Given the description of an element on the screen output the (x, y) to click on. 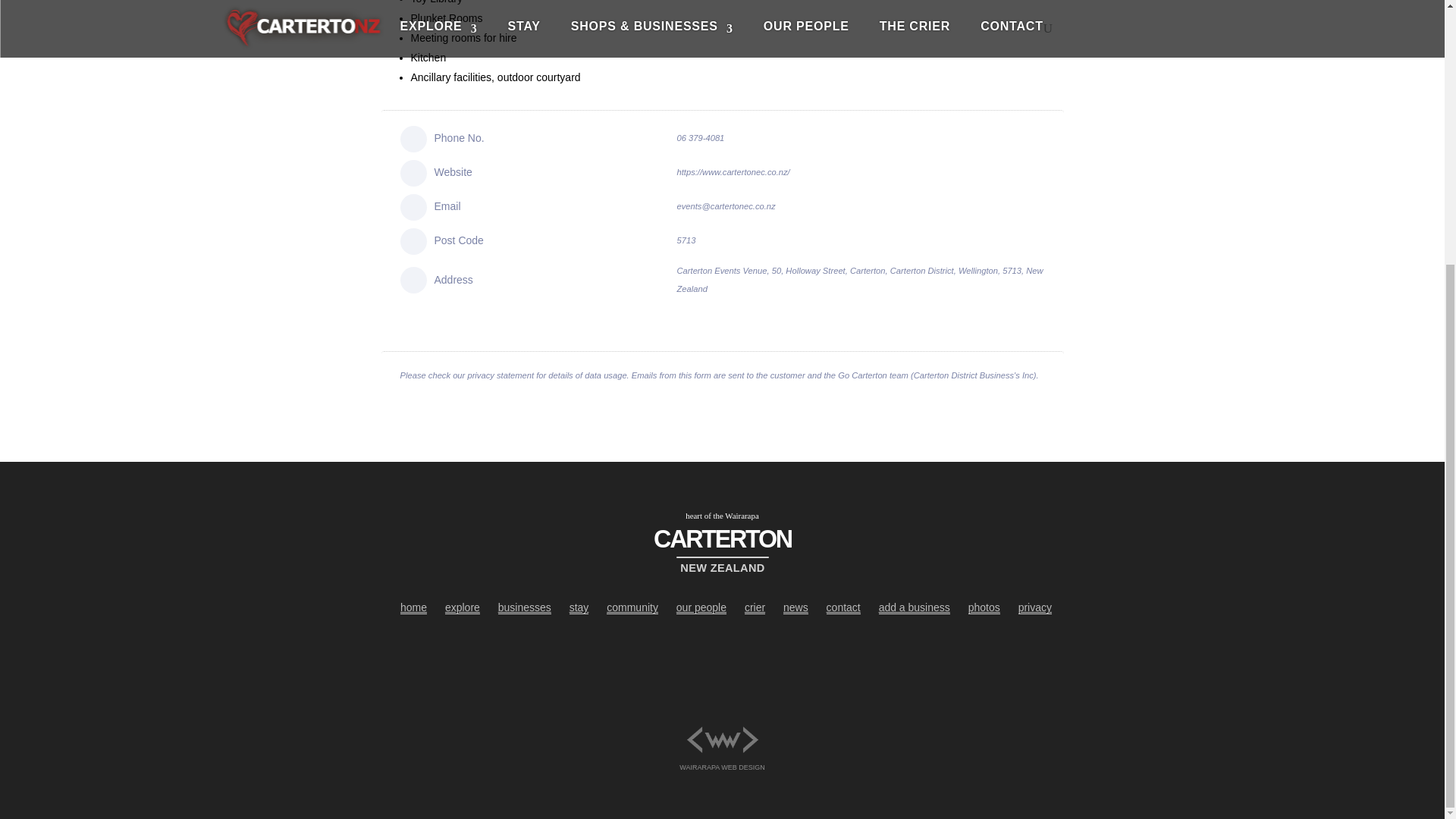
Wairarapa Web Design (722, 727)
